Given the description of an element on the screen output the (x, y) to click on. 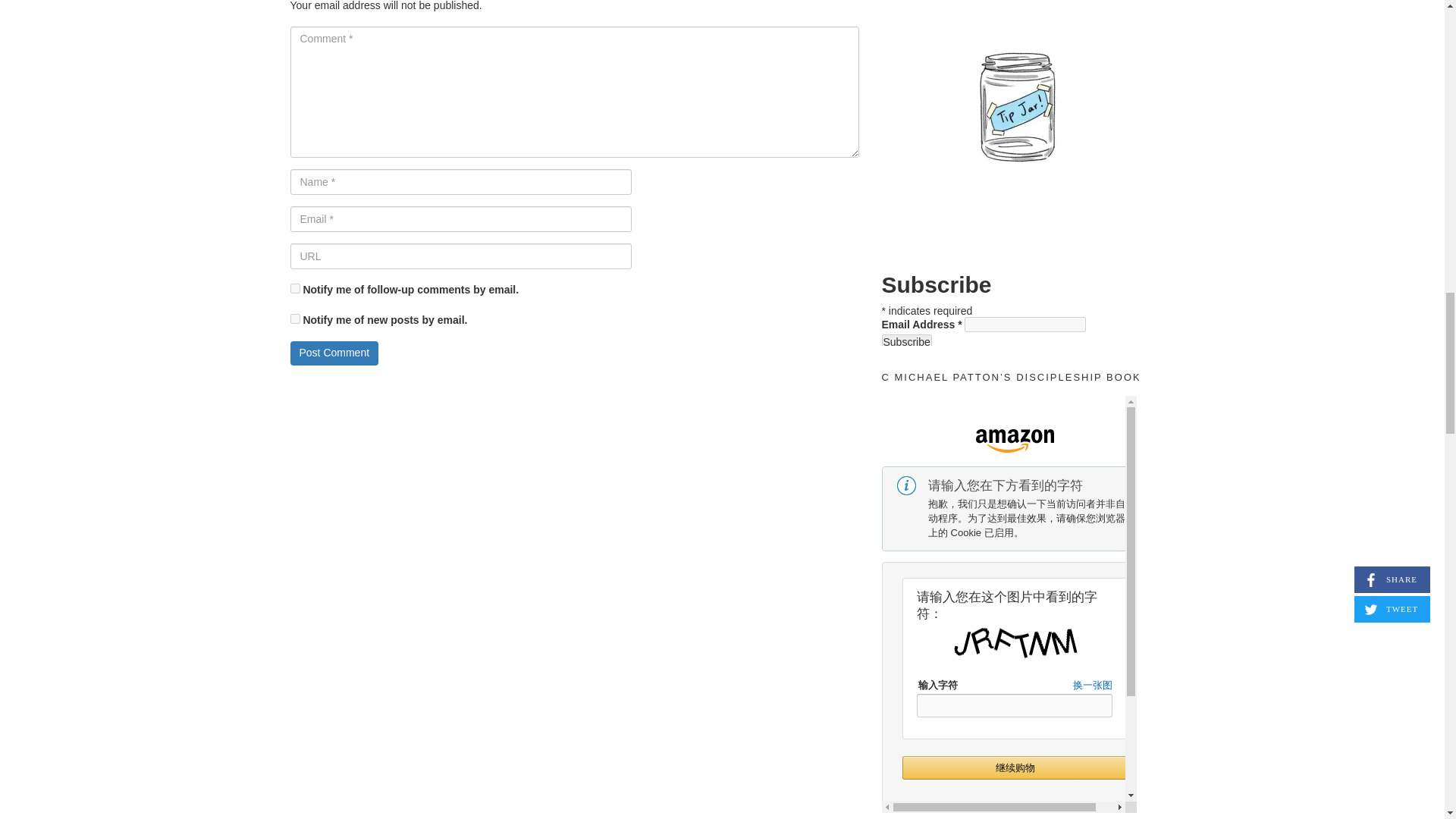
subscribe (294, 318)
Post Comment (333, 353)
Subscribe (905, 341)
subscribe (294, 288)
